Given the description of an element on the screen output the (x, y) to click on. 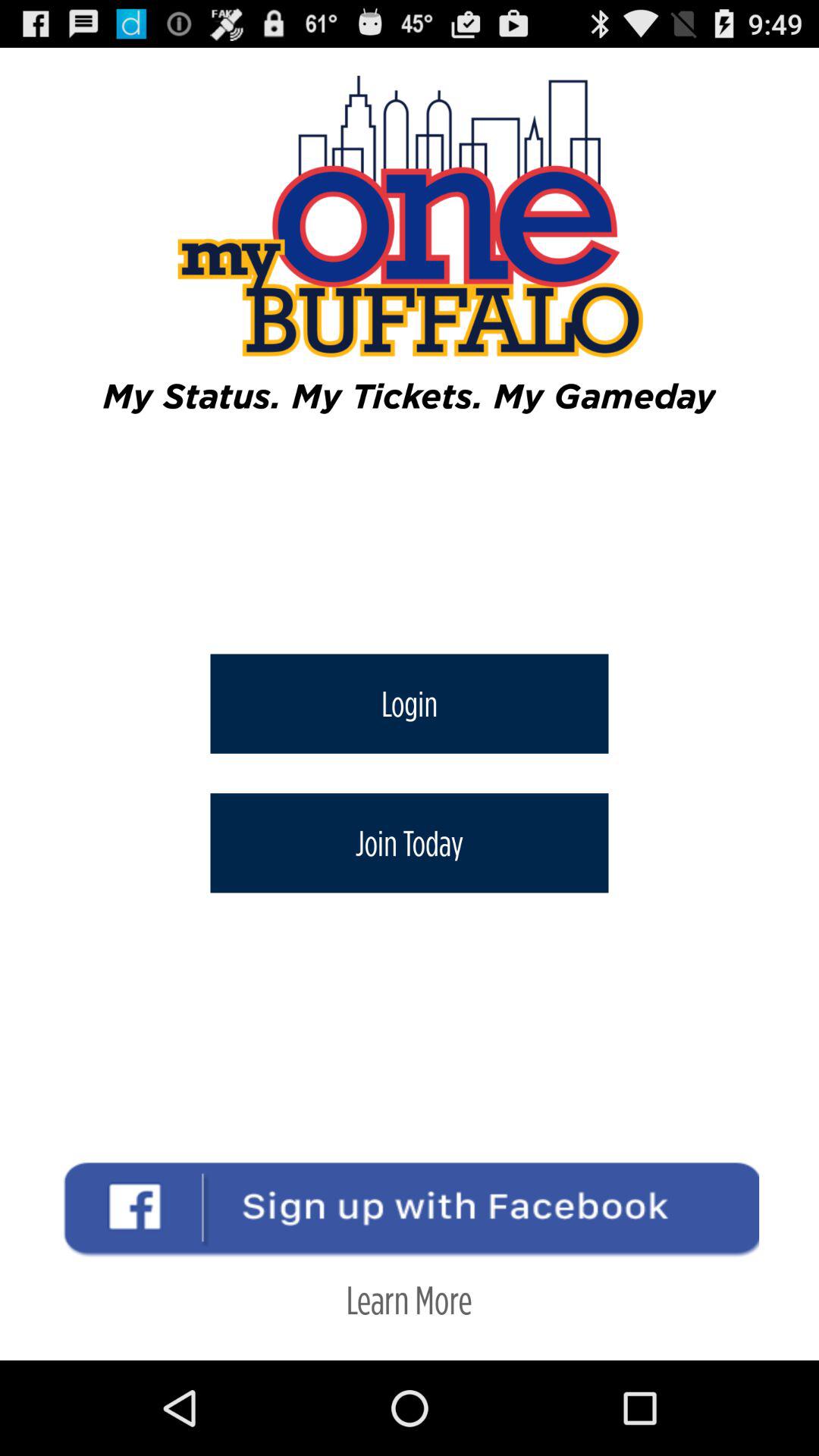
click the join today button (409, 842)
